Given the description of an element on the screen output the (x, y) to click on. 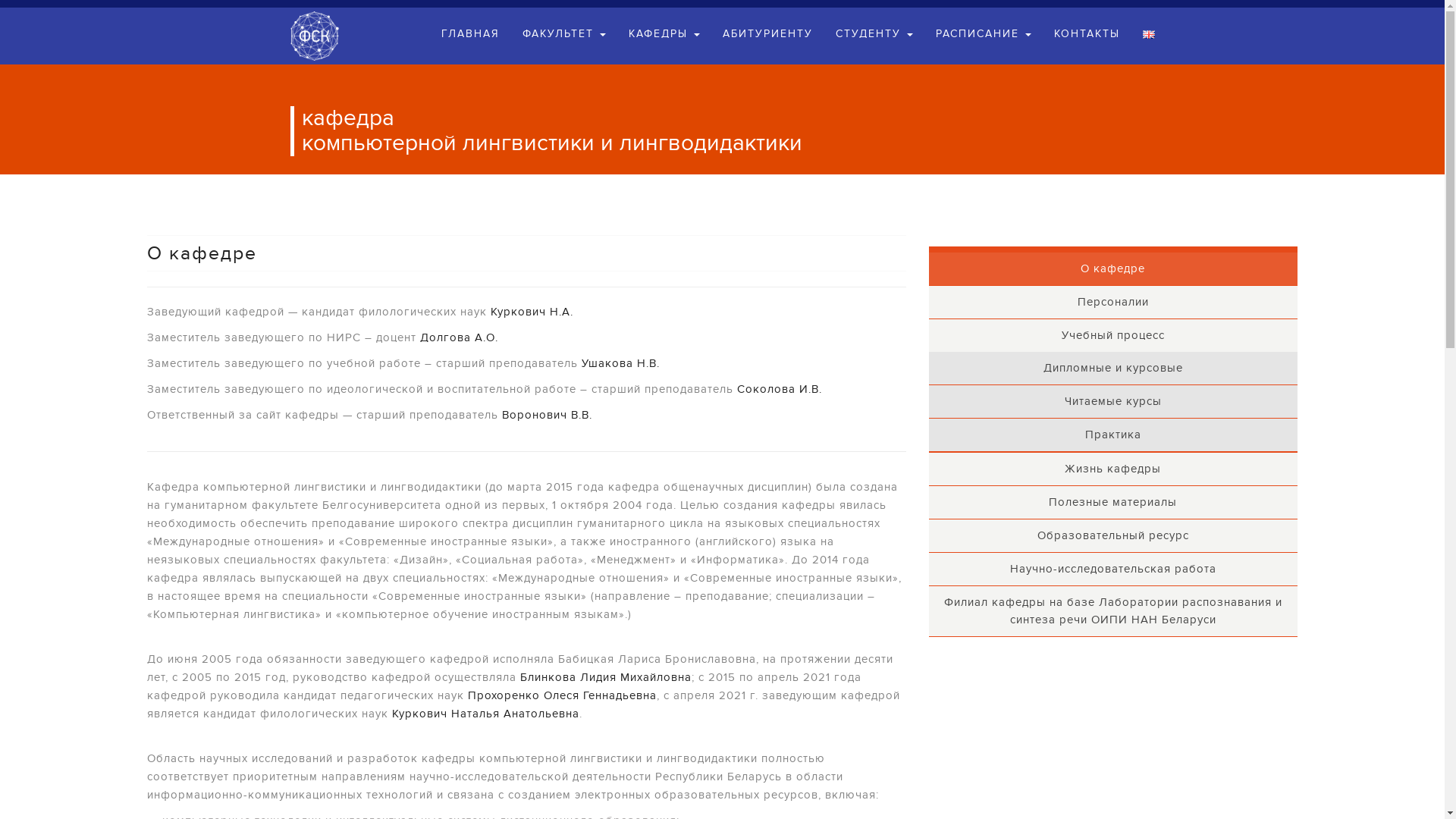
English Element type: hover (1148, 34)
